Given the description of an element on the screen output the (x, y) to click on. 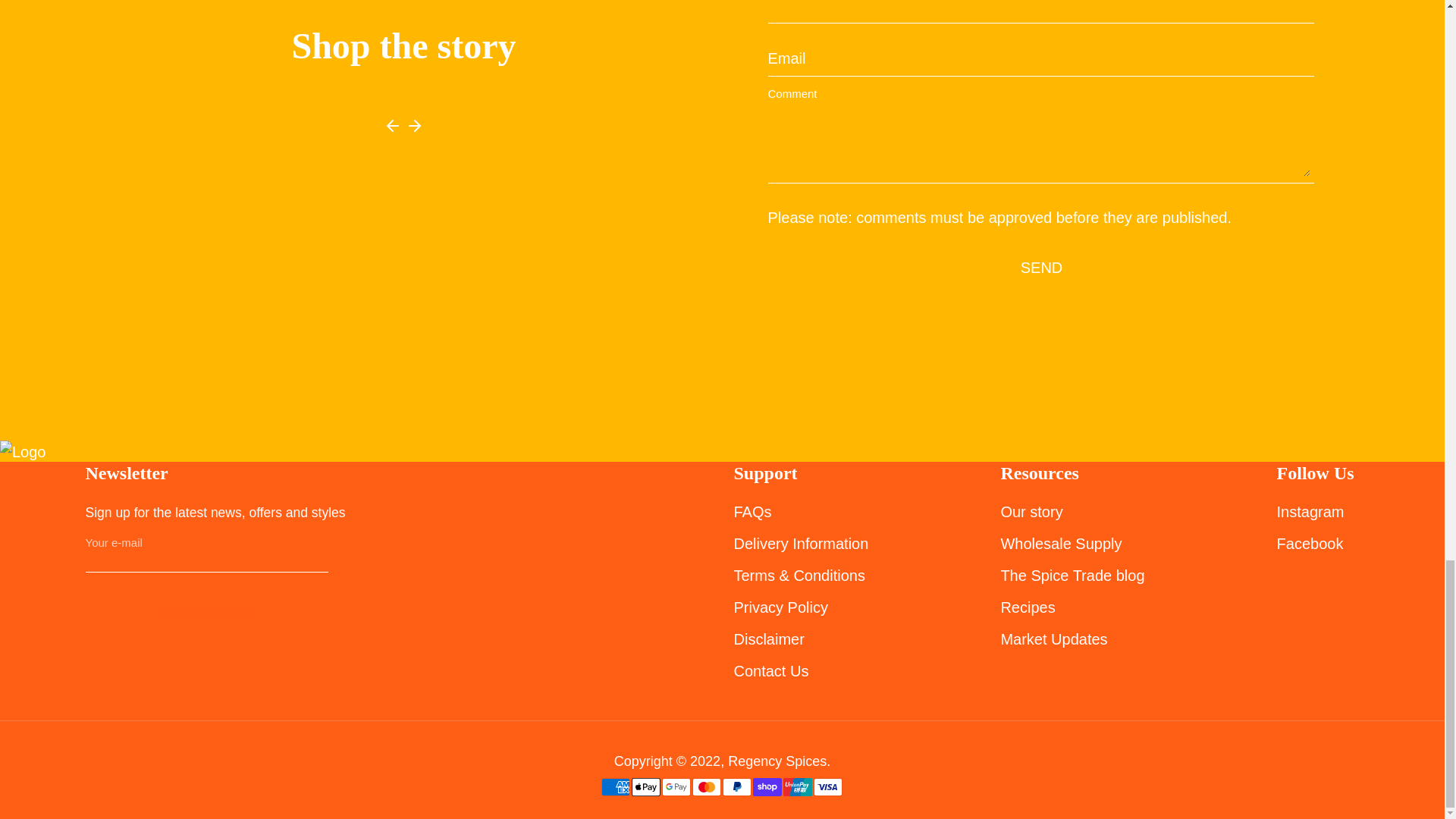
SEND (1041, 267)
